Given the description of an element on the screen output the (x, y) to click on. 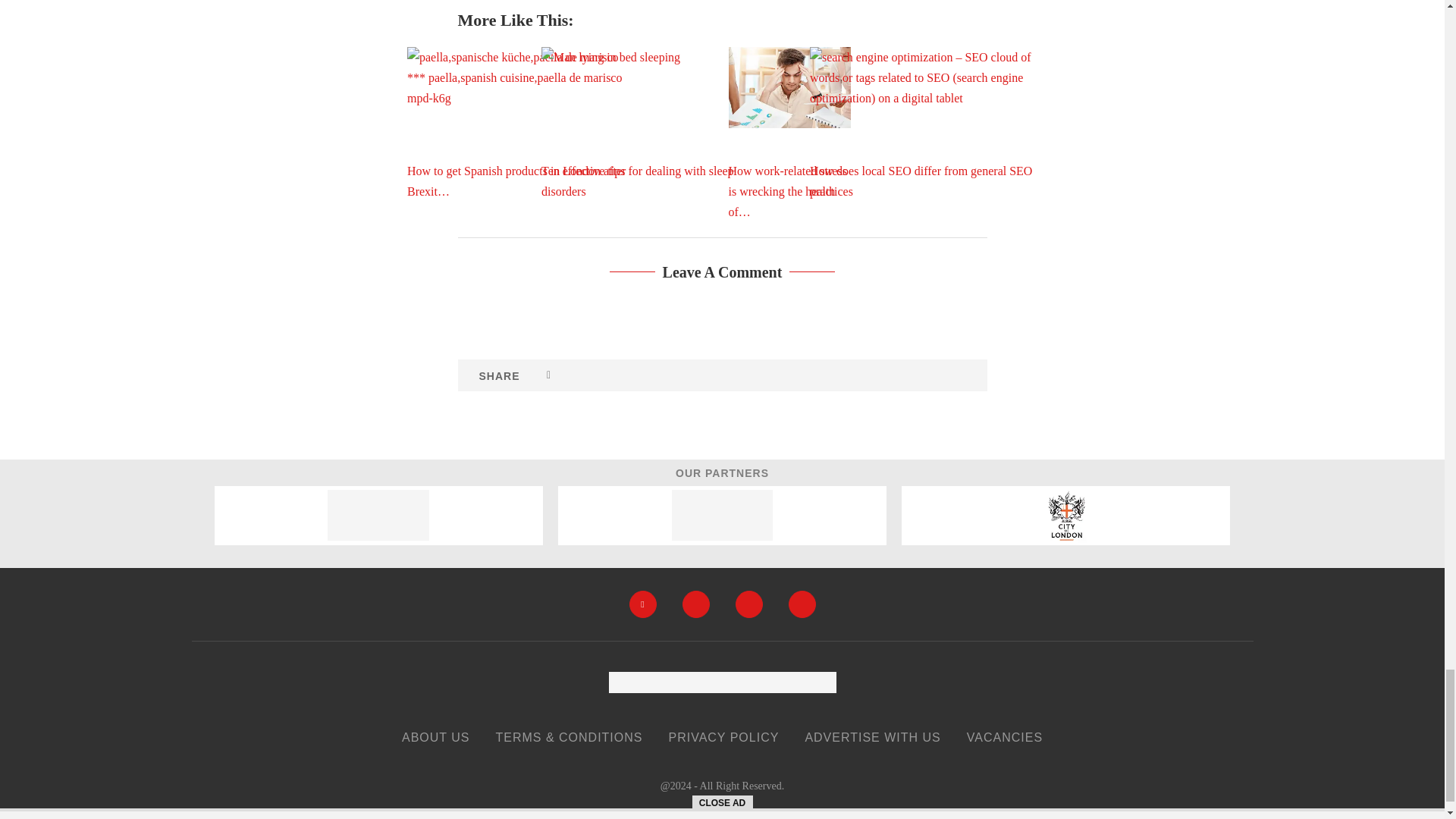
How does local SEO differ from general SEO practices (922, 122)
Ten effective tips for dealing with sleep disorders (654, 122)
